Given the description of an element on the screen output the (x, y) to click on. 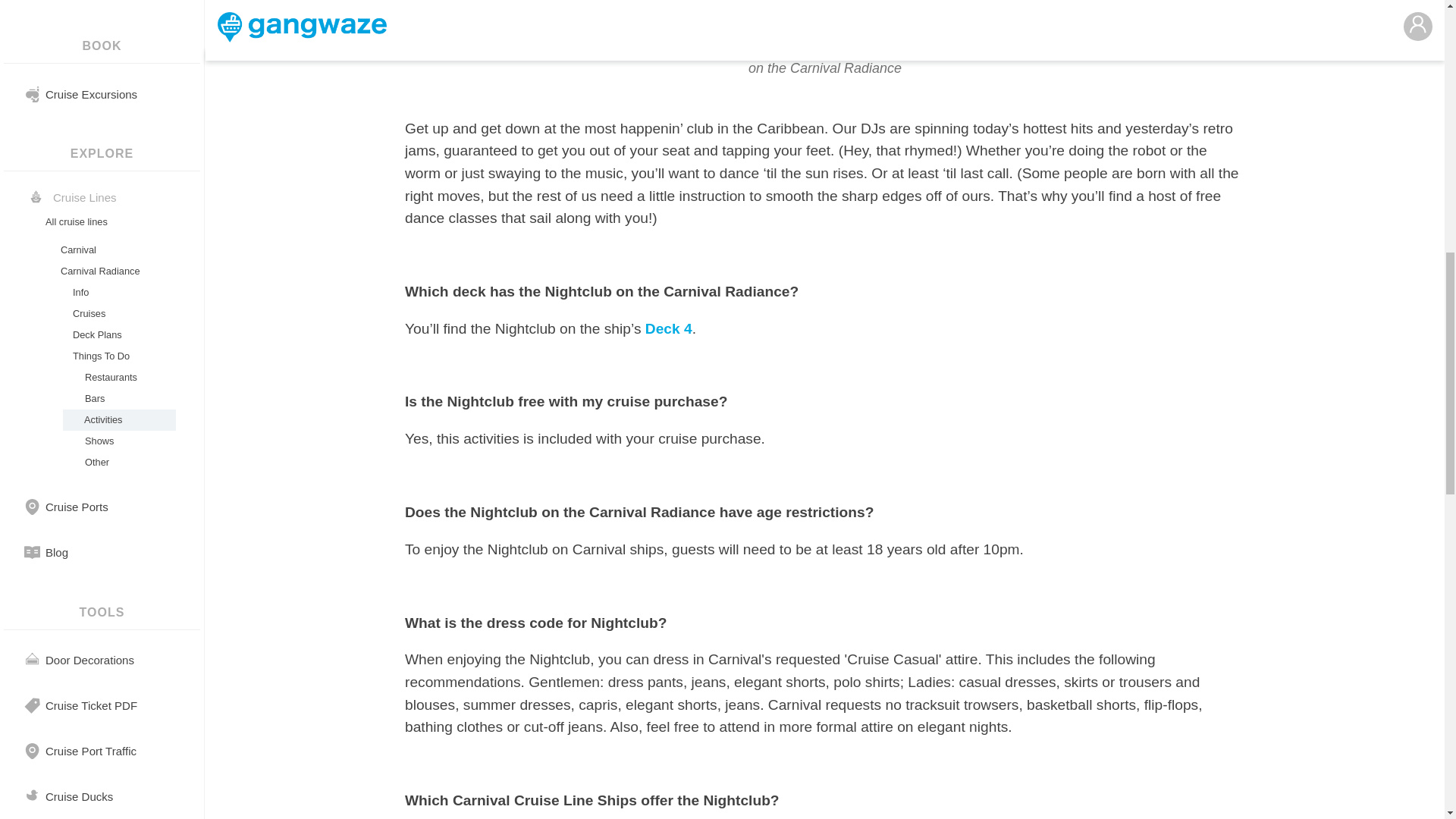
Deck 4 (669, 328)
